Given the description of an element on the screen output the (x, y) to click on. 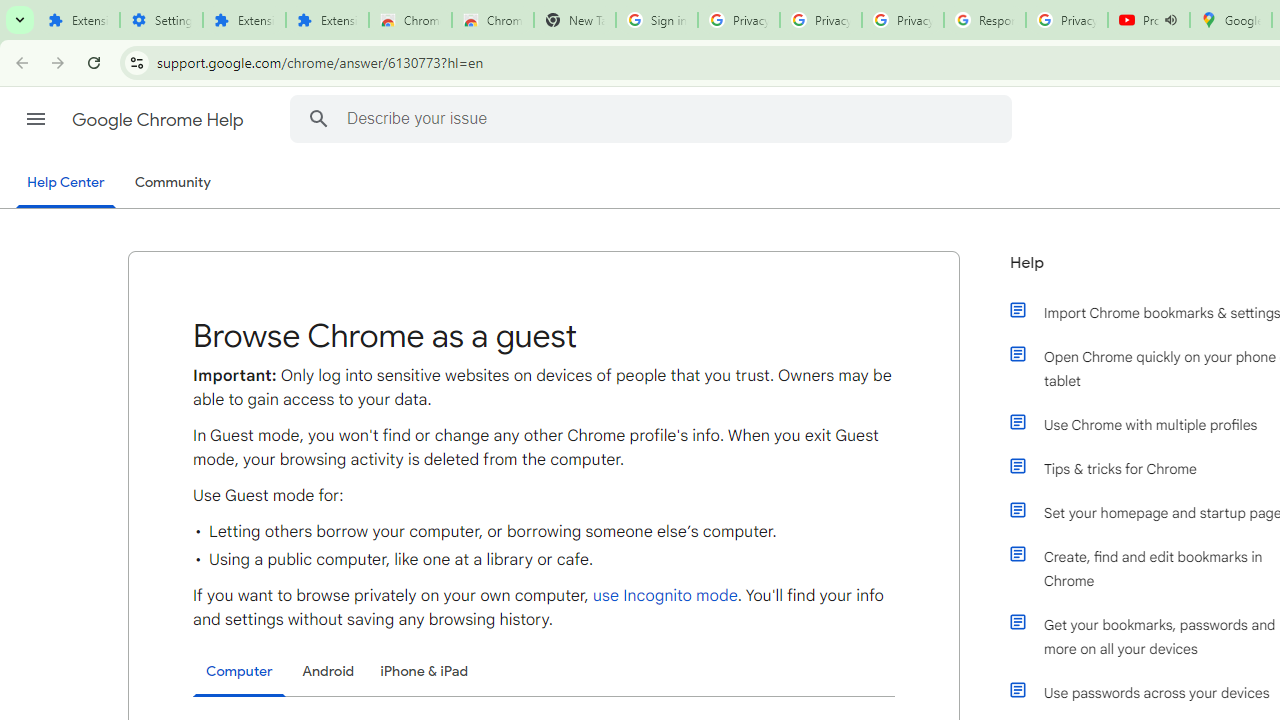
Sign in - Google Accounts (656, 20)
use Incognito mode (664, 596)
Describe your issue (653, 118)
Extensions (244, 20)
Computer (239, 672)
Extensions (326, 20)
iPhone & iPad (424, 671)
